Given the description of an element on the screen output the (x, y) to click on. 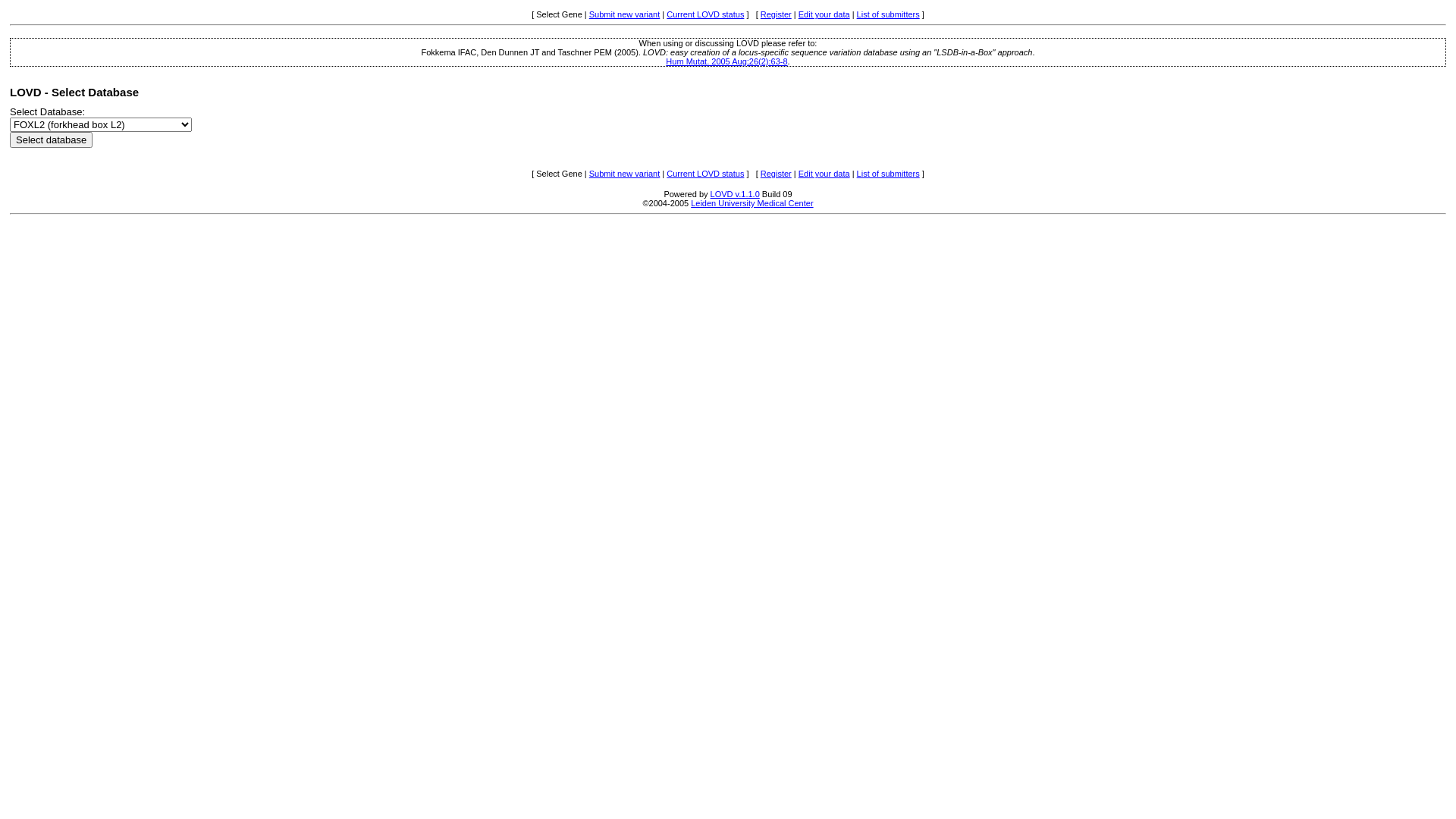
Leiden University Medical Center Element type: text (751, 202)
Edit your data Element type: text (824, 173)
LOVD v.1.1.0 Element type: text (734, 193)
Register Element type: text (775, 173)
Current LOVD status Element type: text (704, 13)
Current LOVD status Element type: text (704, 173)
List of submitters Element type: text (887, 13)
Hum Mutat. 2005 Aug;26(2):63-8 Element type: text (726, 60)
Select database Element type: text (50, 139)
Submit new variant Element type: text (624, 13)
Submit new variant Element type: text (624, 173)
Edit your data Element type: text (824, 13)
Register Element type: text (775, 13)
List of submitters Element type: text (887, 173)
